Given the description of an element on the screen output the (x, y) to click on. 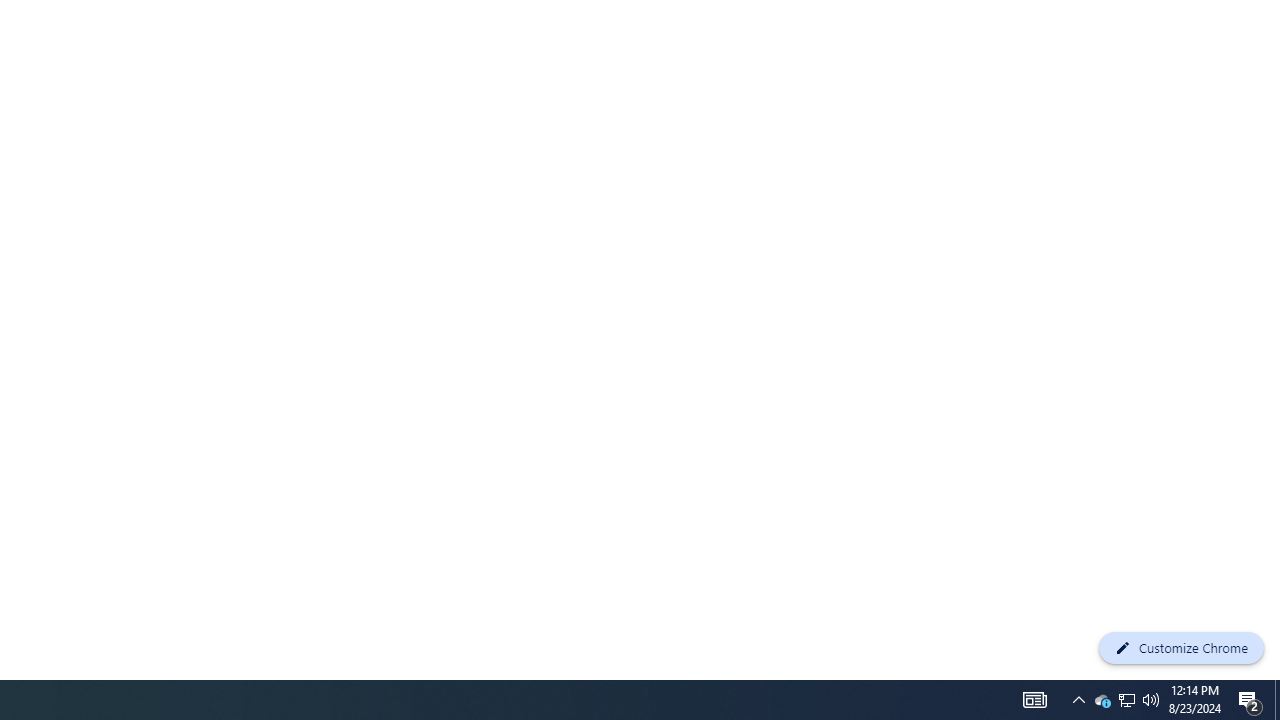
Customize Chrome (1181, 647)
